Given the description of an element on the screen output the (x, y) to click on. 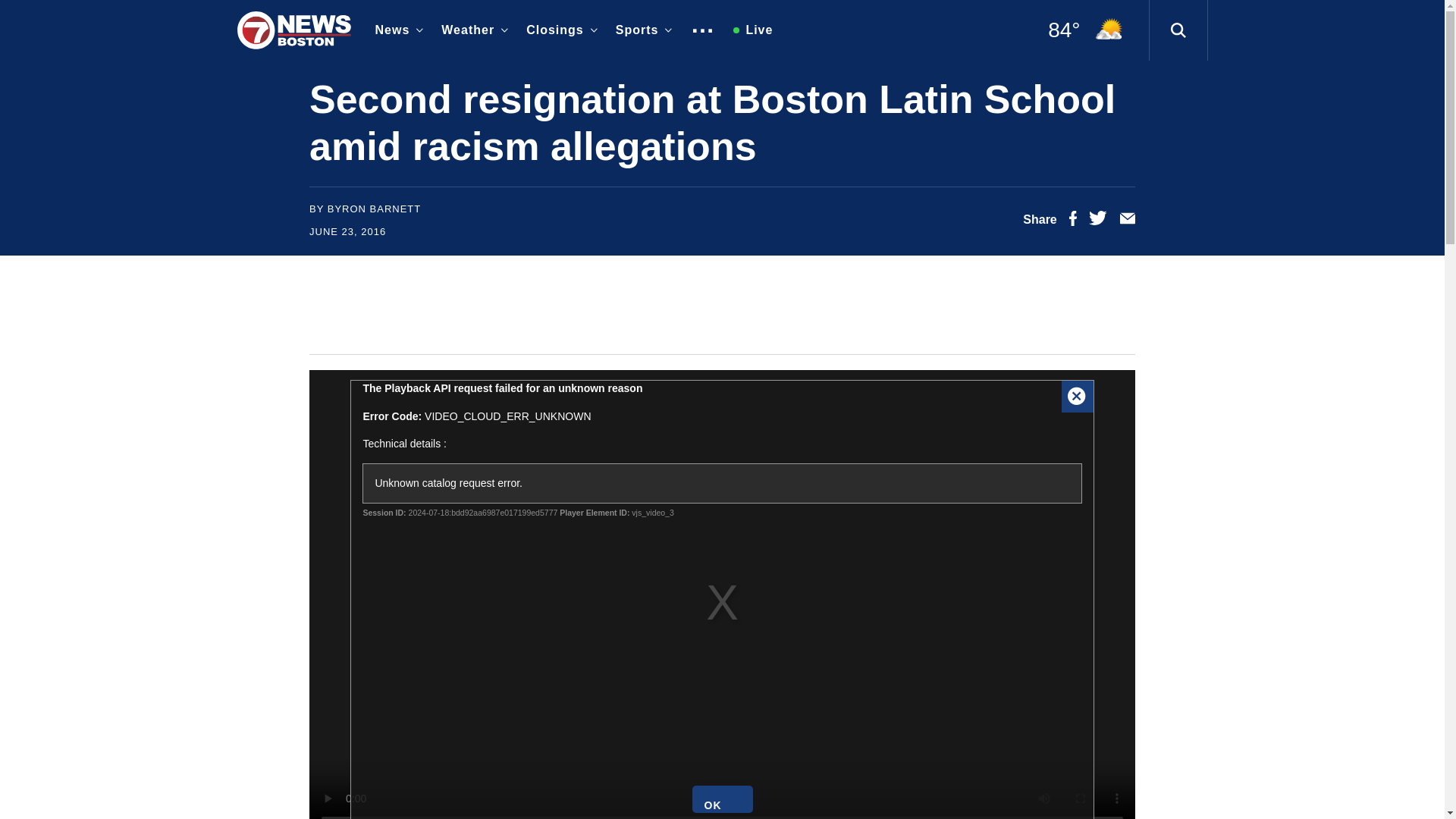
Closings (558, 30)
June 23, 2016 (346, 231)
Twitter (1098, 221)
News (395, 30)
Weather (471, 30)
3rd party ad content (721, 305)
Posts by Byron Barnett (374, 208)
Sports (641, 30)
Email (1127, 221)
